Given the description of an element on the screen output the (x, y) to click on. 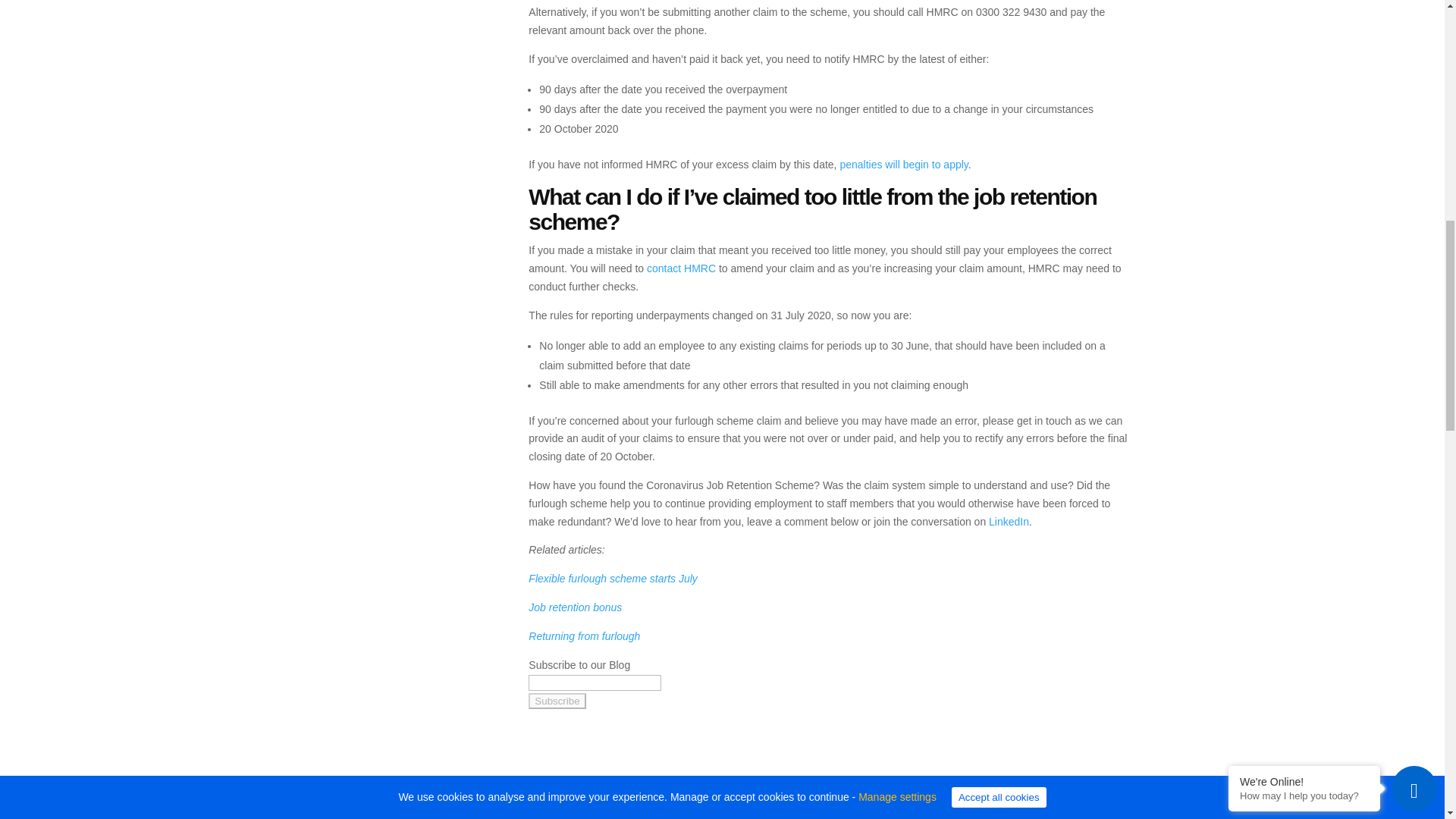
LinkedIn (1008, 521)
Subscribe (556, 700)
